Given the description of an element on the screen output the (x, y) to click on. 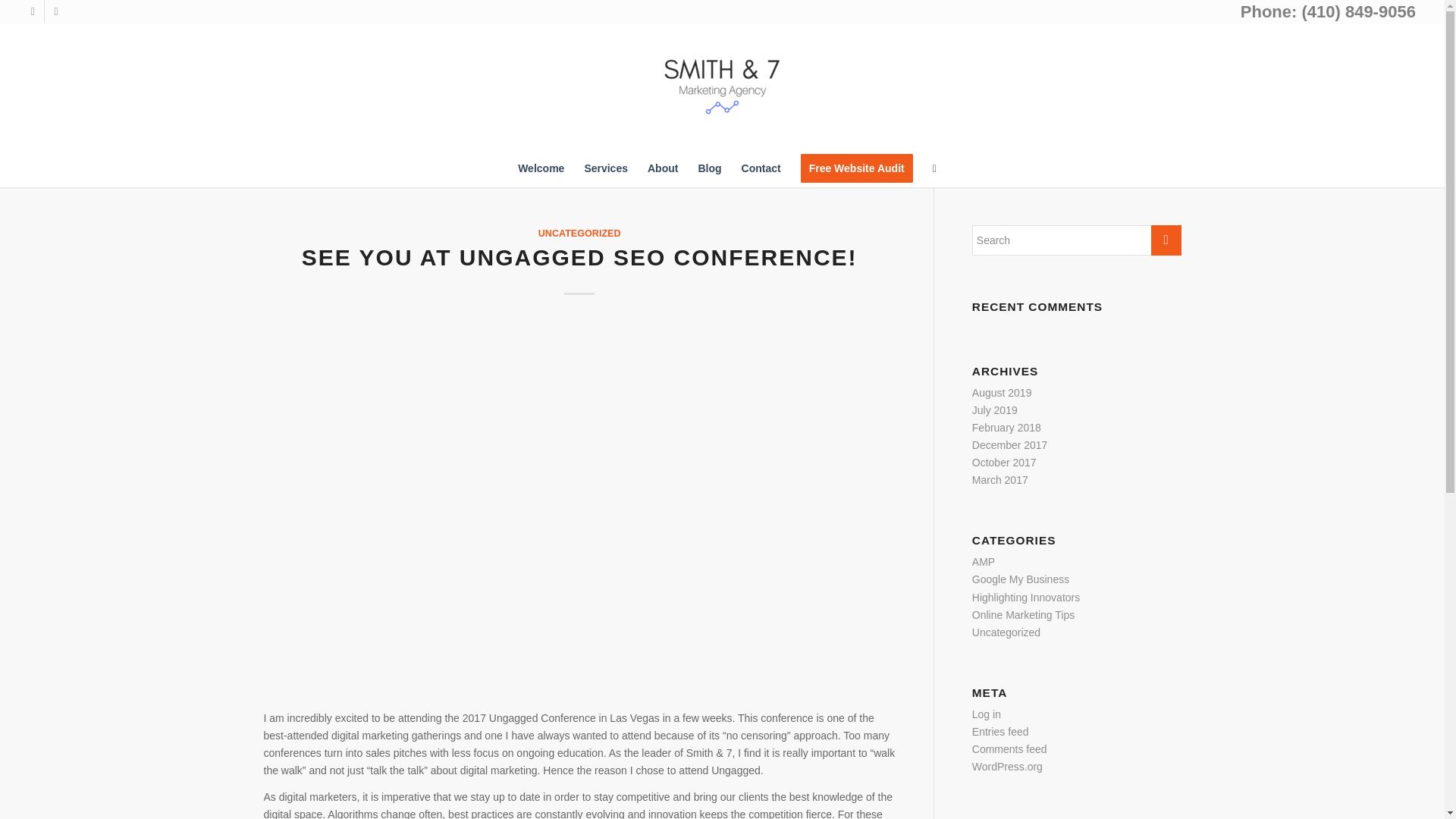
Contact (761, 168)
UNCATEGORIZED (579, 233)
Uncategorized (1006, 632)
Free Website Audit (856, 168)
Facebook (32, 11)
AMP (983, 562)
October 2017 (1004, 462)
Welcome (540, 168)
Entries feed (1000, 731)
Highlighting Innovators (1026, 597)
Google My Business (1020, 579)
Linkedin (55, 11)
Blog (708, 168)
Permanent Link: See You At Ungagged SEO Conference! (579, 257)
Services (605, 168)
